Given the description of an element on the screen output the (x, y) to click on. 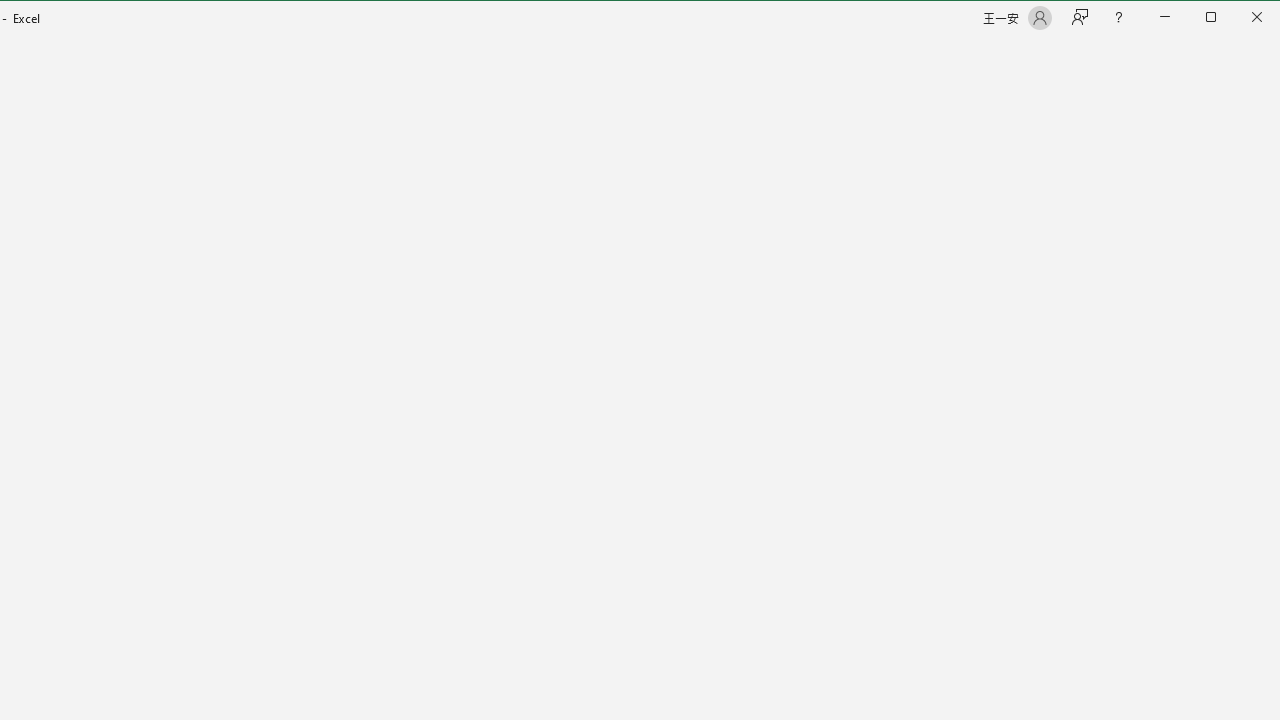
Maximize (1239, 18)
